Given the description of an element on the screen output the (x, y) to click on. 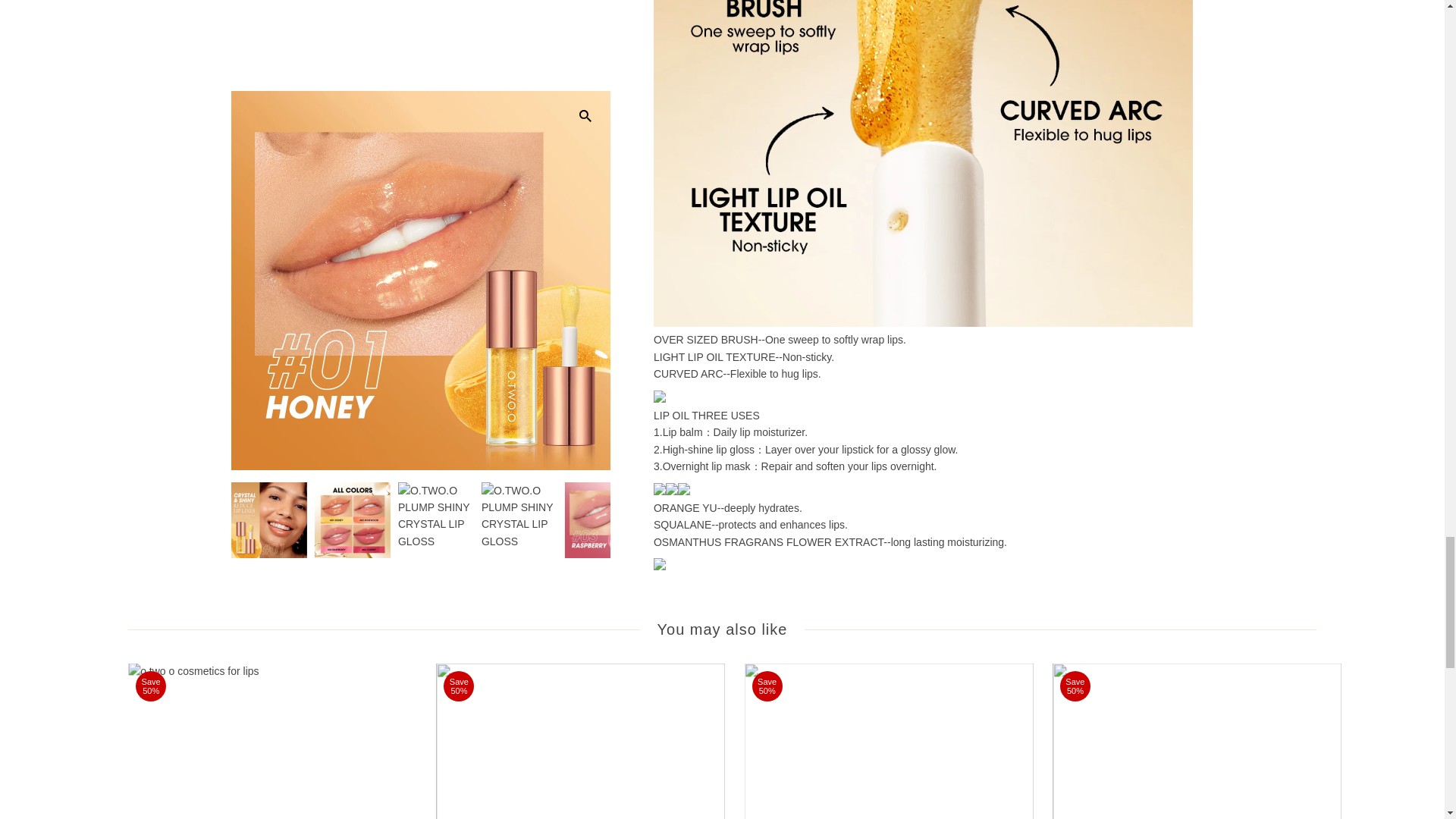
O.TWO.O MISTY KISS LOCK COLOUR MATTE LIPSTICK (1196, 741)
O.TWO.O LUXURIOUS MOISTURIZING FACE BASE (580, 741)
O.TWO.O 2 ROGUE WATERPROOF LIP AND CHEEK TINT (272, 741)
O.TWO.O CHARM LOVE MARK EYESHADOW PALETTE (888, 741)
